Given the description of an element on the screen output the (x, y) to click on. 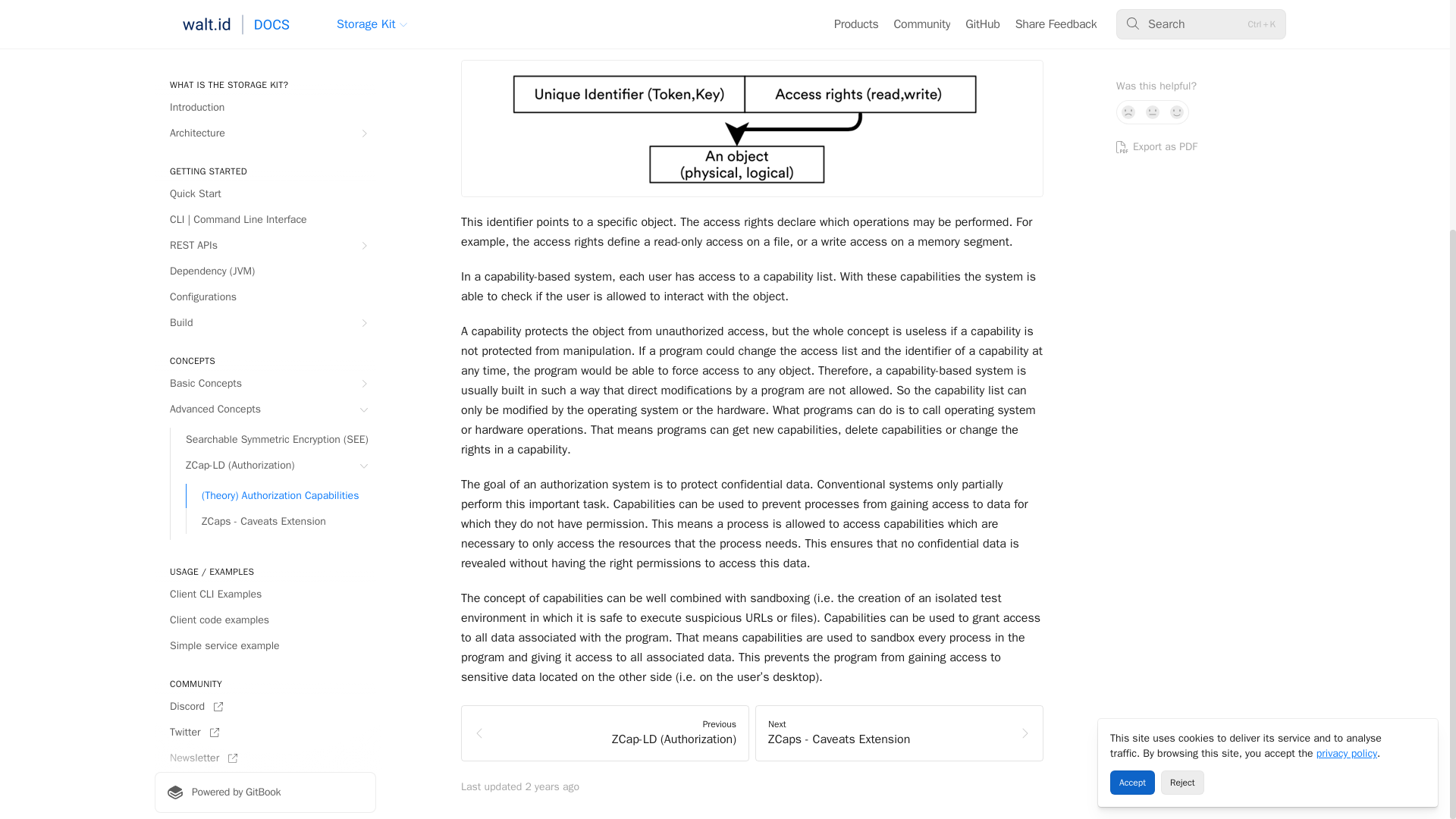
Advanced Concepts (264, 89)
Close (1419, 417)
Basic Concepts (264, 64)
Build (264, 7)
